Given the description of an element on the screen output the (x, y) to click on. 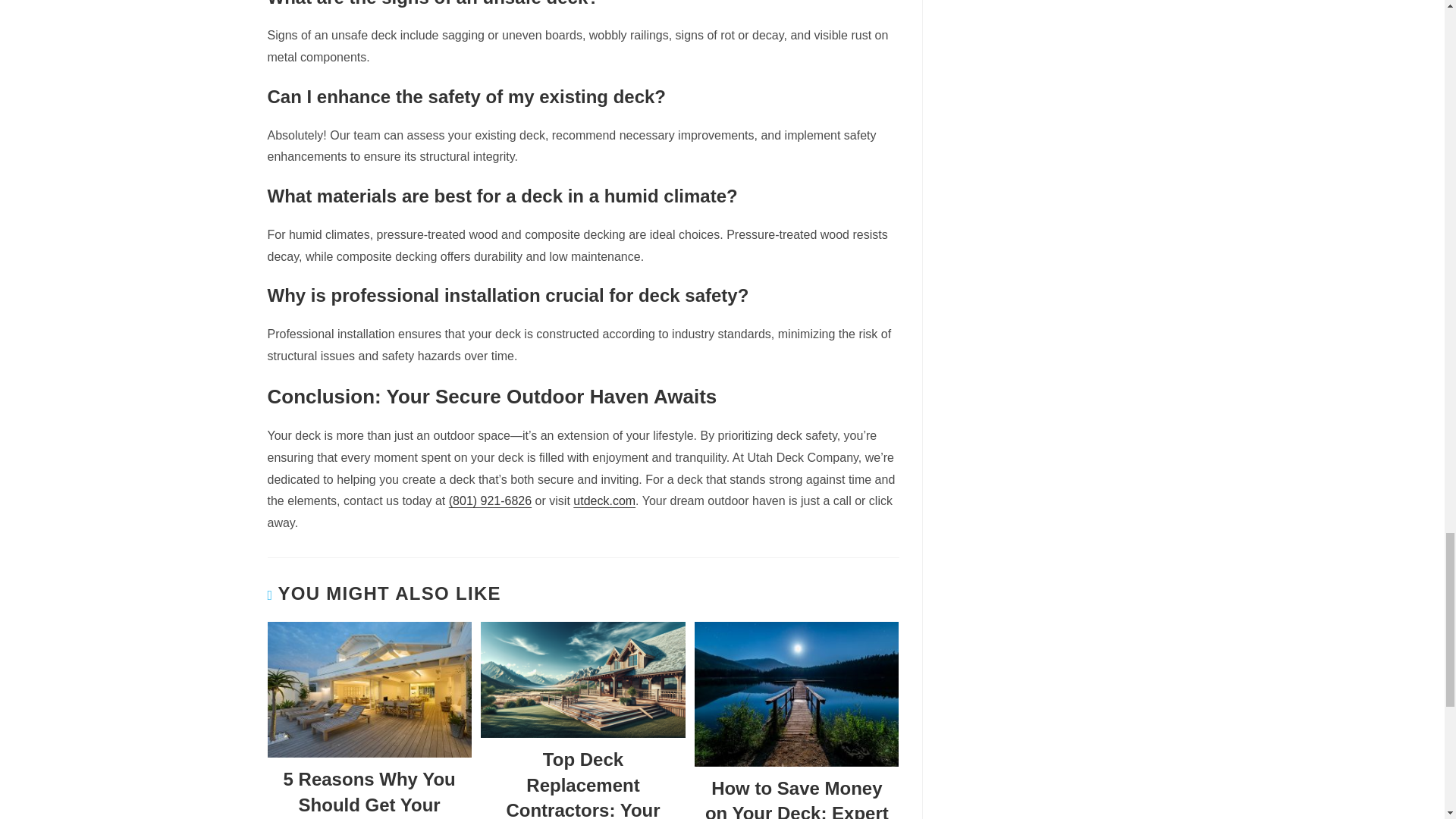
Top Deck Replacement Contractors: Your Ultimate Guide 3 (582, 679)
5 Reasons Why You Should Get Your Deck Replaced: 2 (368, 689)
